Given the description of an element on the screen output the (x, y) to click on. 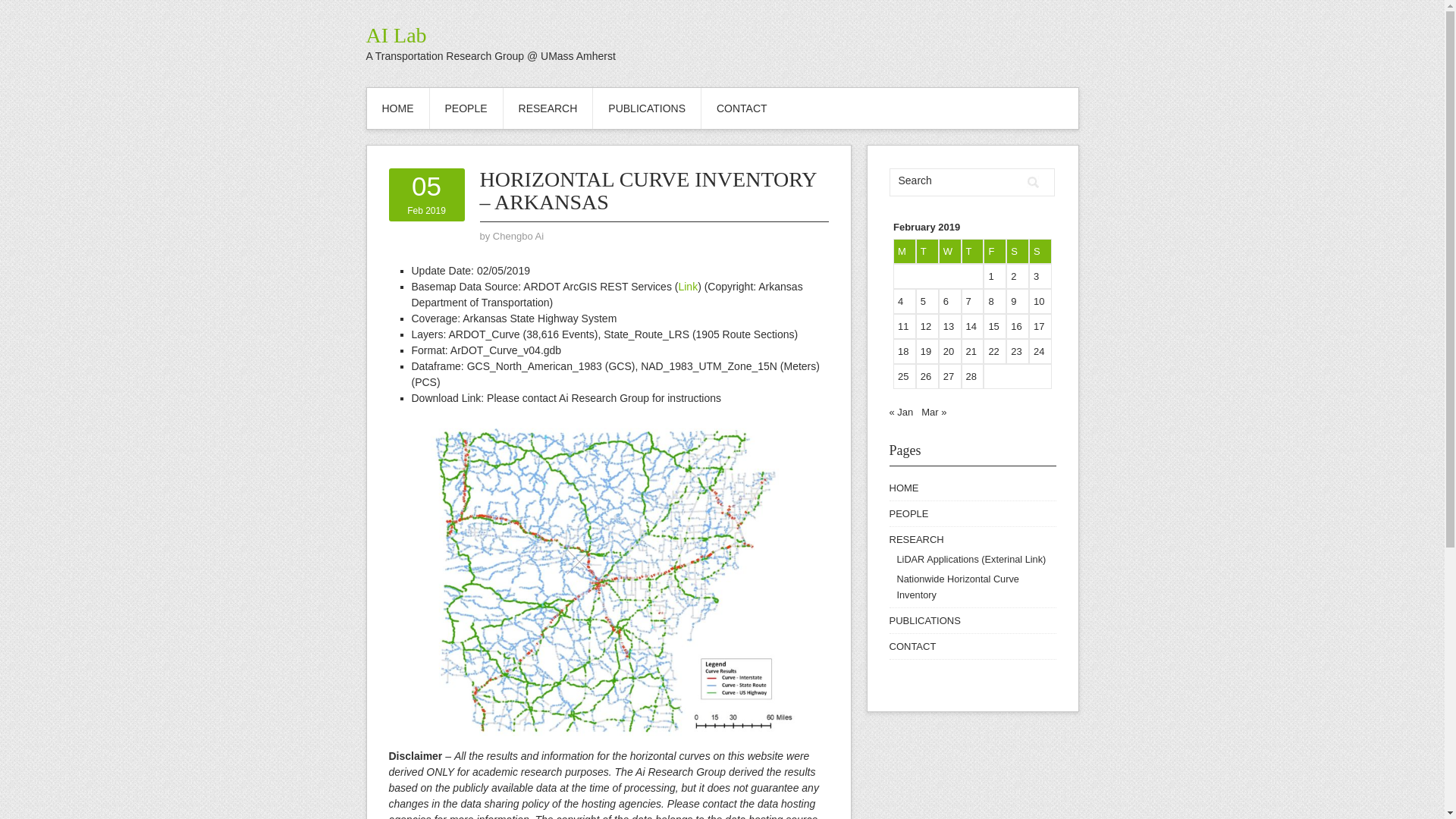
CONTACT (742, 107)
February 5, 2019 2:54 pm (426, 194)
Saturday (1017, 251)
PEOPLE (465, 107)
by Chengbo Ai (518, 235)
Search (954, 179)
PUBLICATIONS (646, 107)
PUBLICATIONS (923, 620)
HOME (903, 487)
AI Lab (395, 34)
